Given the description of an element on the screen output the (x, y) to click on. 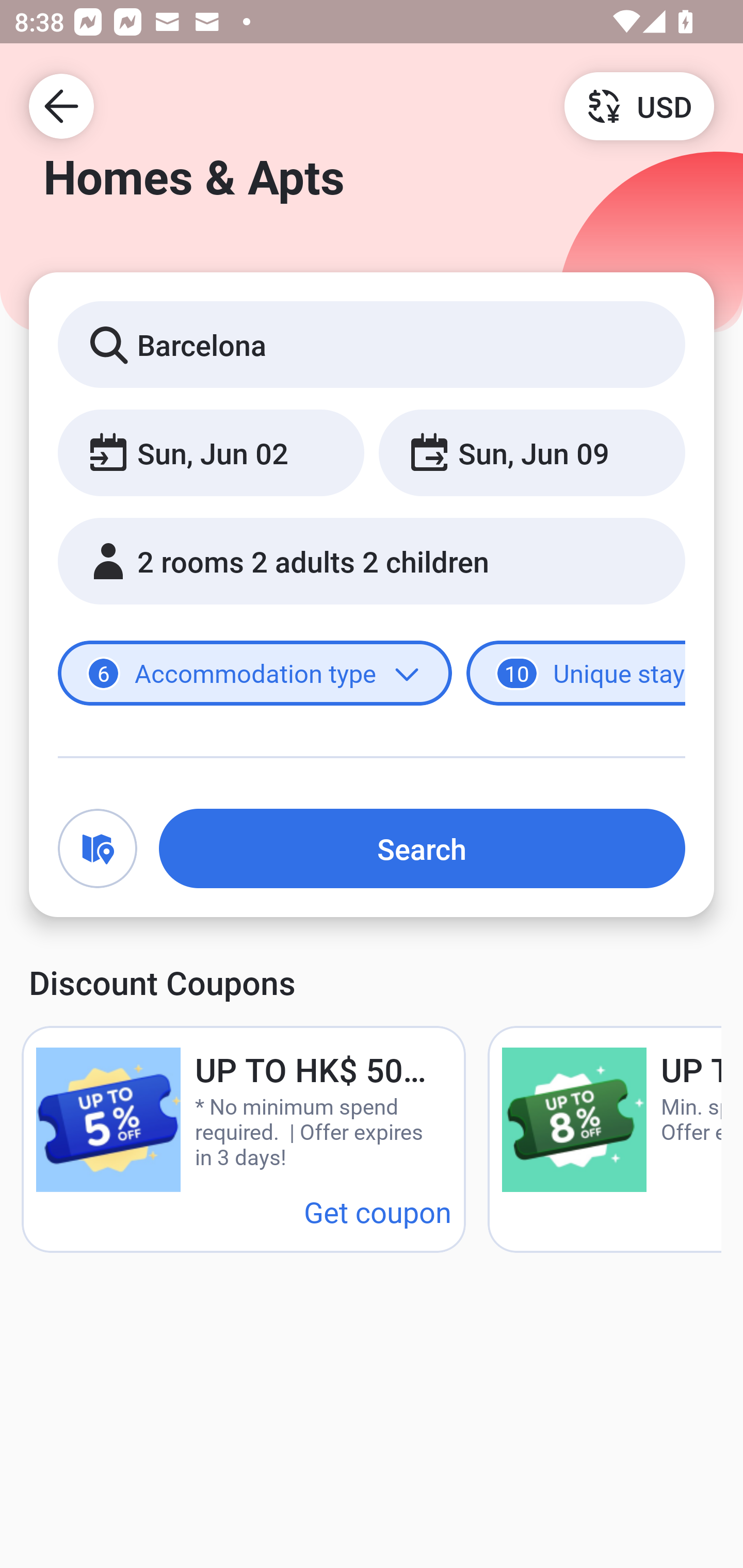
USD (639, 105)
Barcelona (371, 344)
Sun, Jun 02 (210, 452)
Sun, Jun 09 (531, 452)
2 rooms 2 adults 2 children (371, 561)
6 Accommodation type (254, 673)
10 Unique stays (575, 673)
Search (422, 848)
Get coupon (377, 1211)
